Given the description of an element on the screen output the (x, y) to click on. 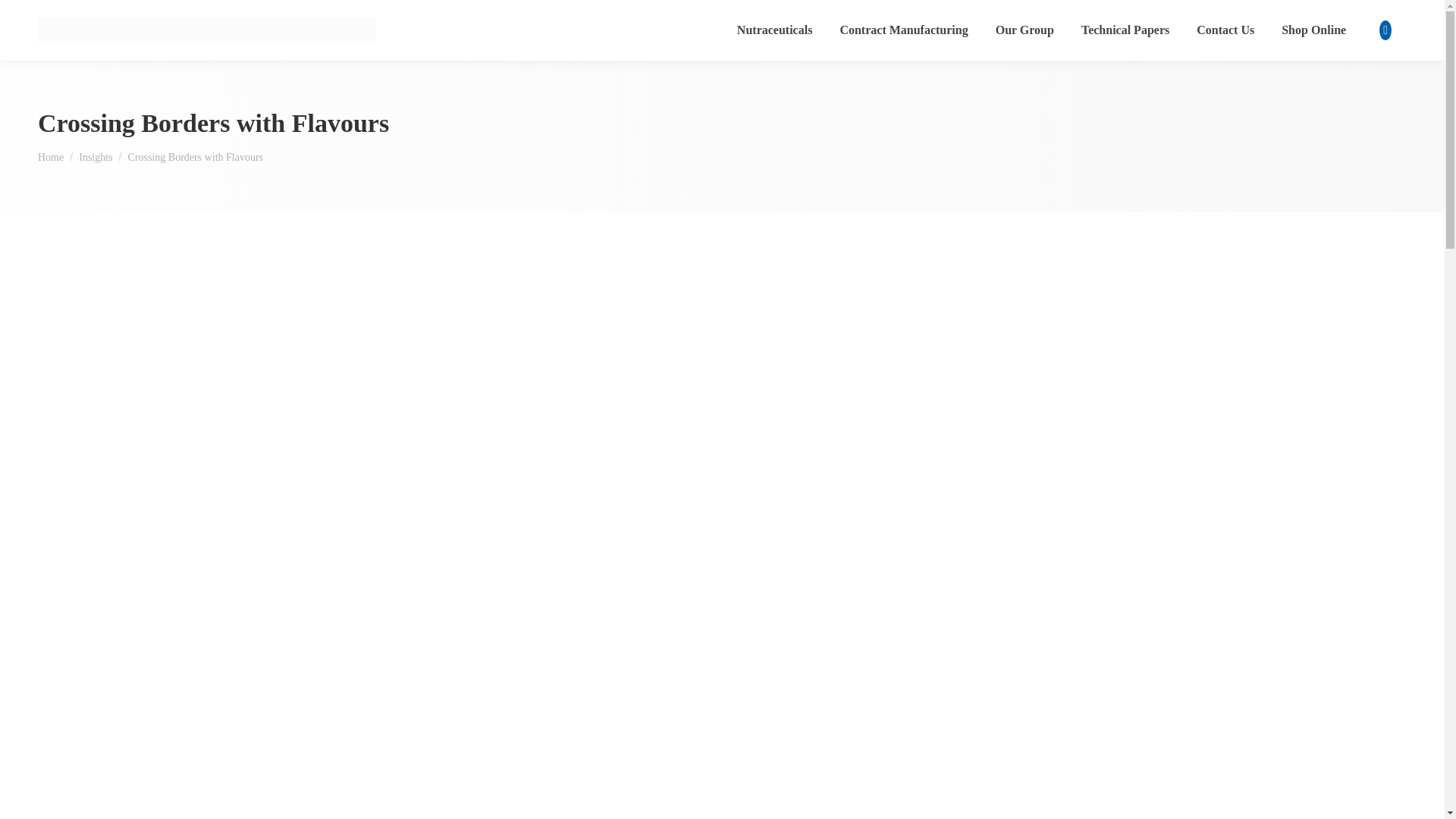
Home (50, 155)
Contract Manufacturing (903, 29)
Go! (24, 16)
Technical Papers (1125, 29)
Nutraceuticals (774, 29)
Home (50, 155)
Contact Us (1225, 29)
Shop Online (1313, 29)
Our Group (1024, 29)
